Given the description of an element on the screen output the (x, y) to click on. 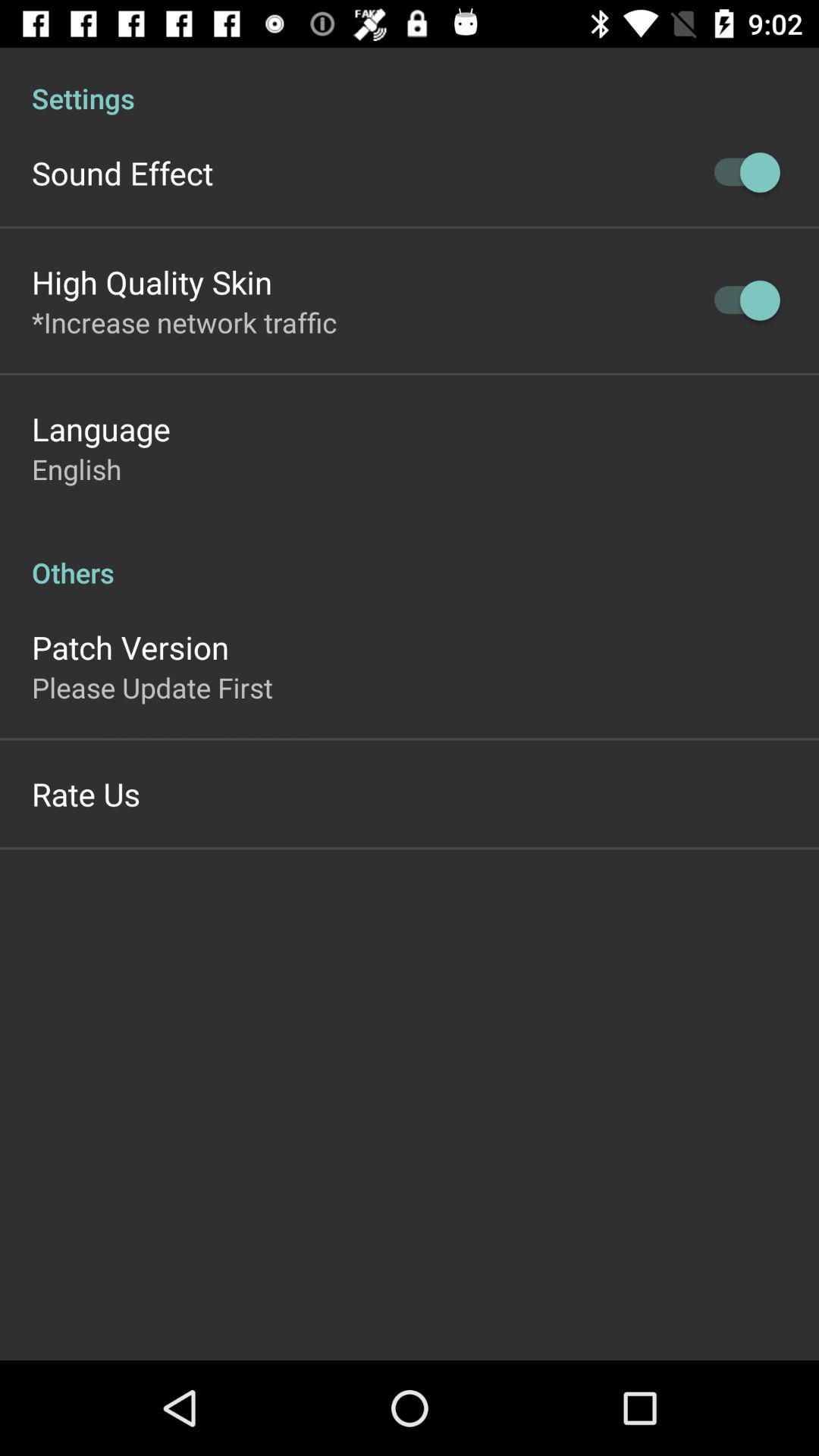
jump to rate us item (85, 793)
